Given the description of an element on the screen output the (x, y) to click on. 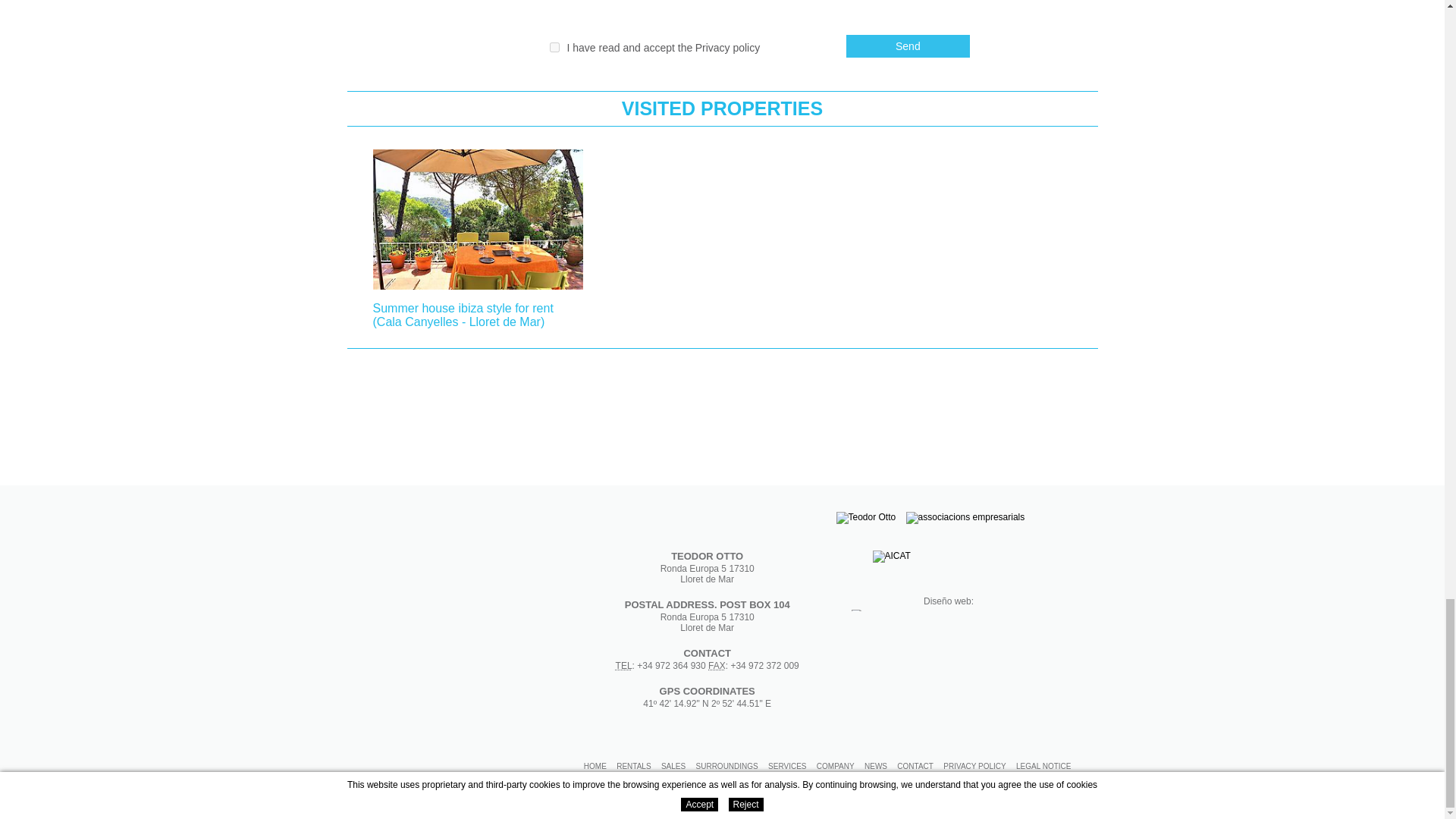
1 (553, 47)
Send (907, 46)
